Given the description of an element on the screen output the (x, y) to click on. 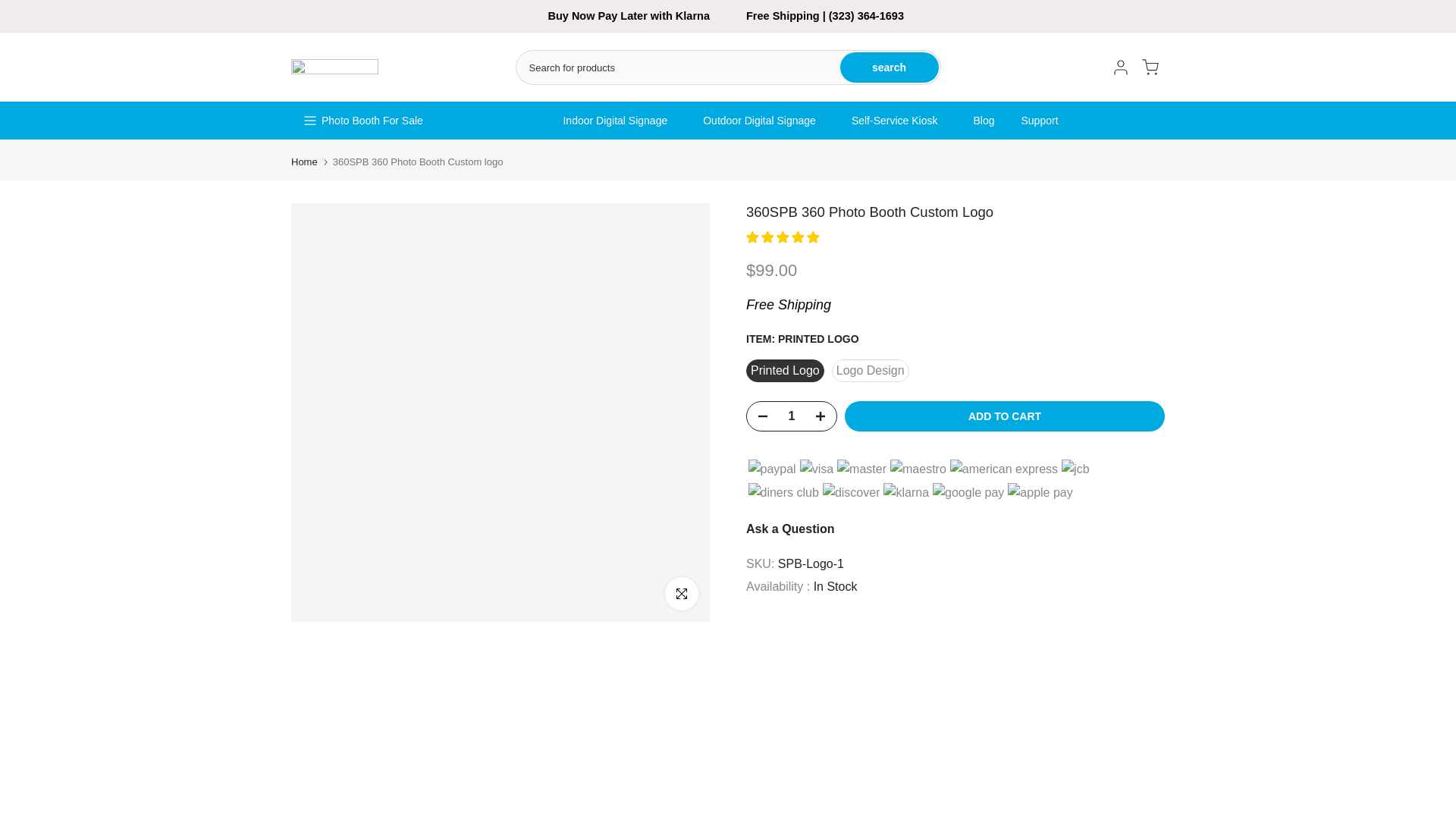
Self-Service Kiosk (898, 120)
Indoor Digital Signage (620, 120)
Blog (983, 120)
Outdoor Digital Signage (764, 120)
Skip to content (10, 7)
Support (1043, 120)
Home (304, 161)
Photo Booth For Sale (372, 120)
1 (791, 416)
Ask a Question (789, 528)
